Given the description of an element on the screen output the (x, y) to click on. 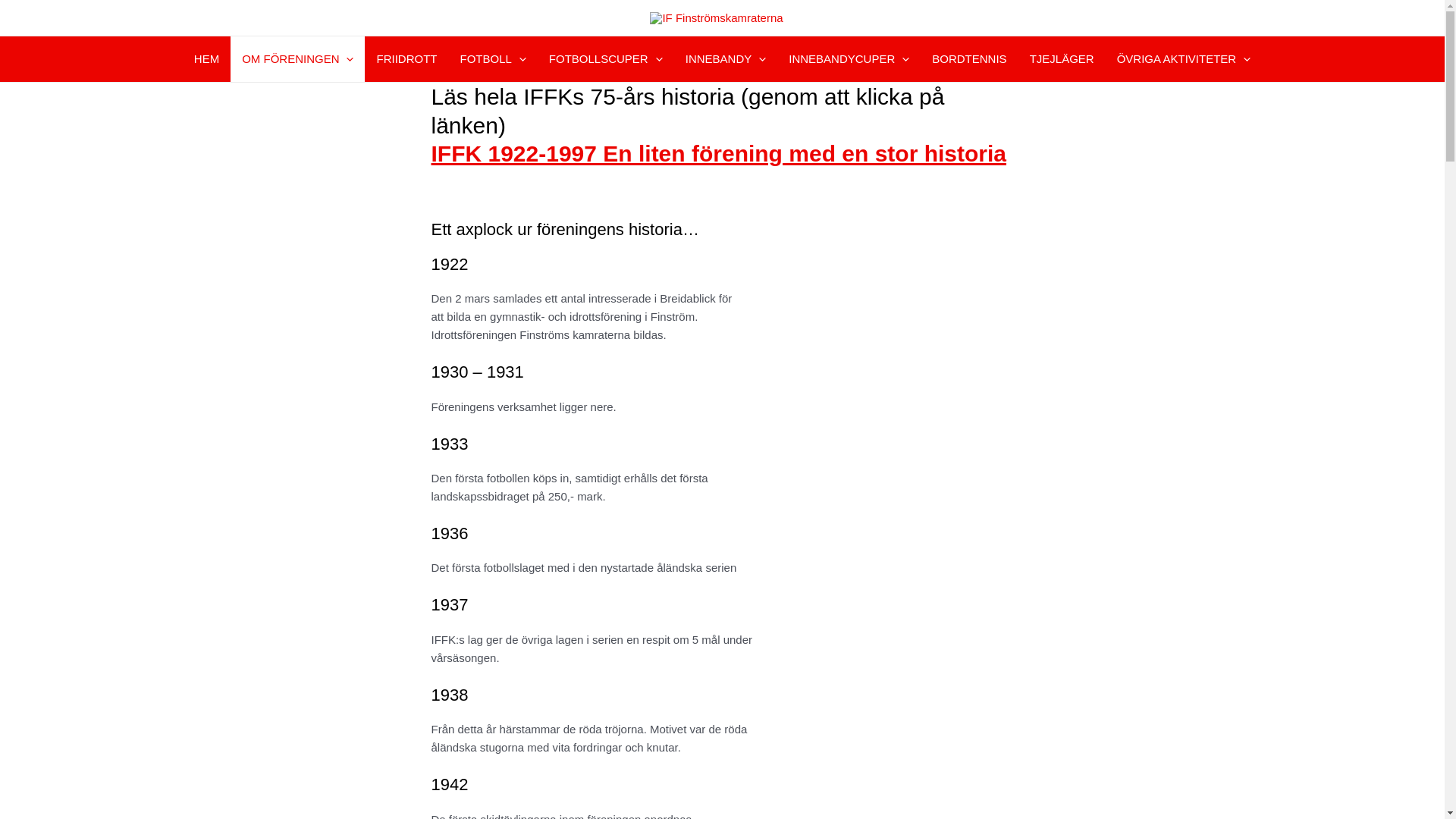
FOTBOLLSCUPER Element type: text (605, 58)
FRIIDROTT Element type: text (406, 58)
INNEBANDYCUPER Element type: text (848, 58)
HEM Element type: text (206, 58)
BORDTENNIS Element type: text (968, 58)
FOTBOLL Element type: text (492, 58)
INNEBANDY Element type: text (726, 58)
